Given the description of an element on the screen output the (x, y) to click on. 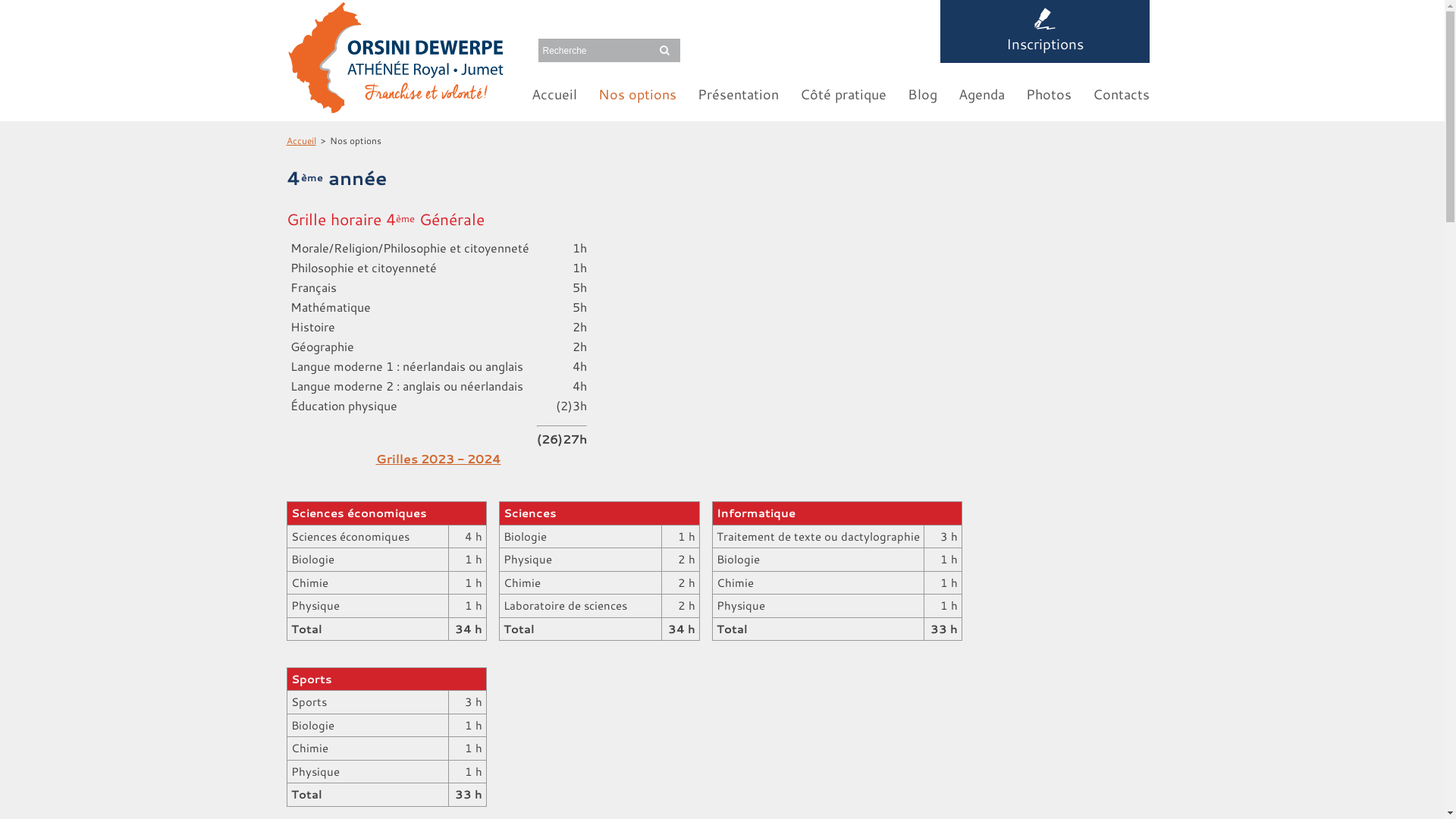
Inscriptions Element type: text (1044, 31)
Contacts Element type: text (1119, 94)
Accueil Element type: text (553, 94)
Blog Element type: text (921, 94)
Agenda Element type: text (981, 94)
Accueil Element type: text (301, 140)
Nos options Element type: text (636, 94)
Grilles 2023 - 2024 Element type: text (438, 458)
Photos Element type: text (1047, 94)
